Given the description of an element on the screen output the (x, y) to click on. 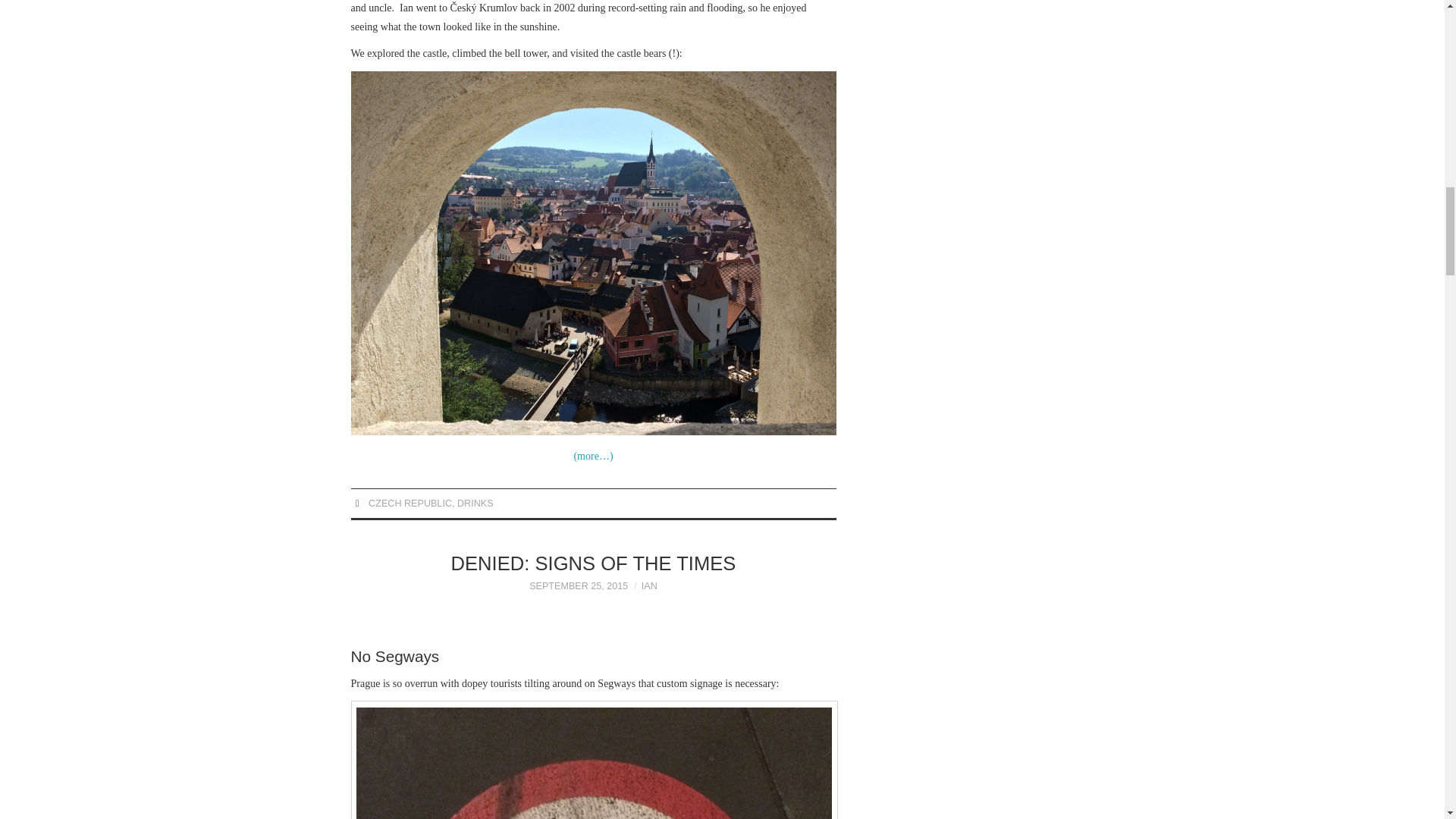
DENIED: SIGNS OF THE TIMES (593, 563)
DRINKS (475, 502)
IAN (650, 585)
CZECH REPUBLIC (409, 502)
SEPTEMBER 25, 2015 (578, 585)
